Given the description of an element on the screen output the (x, y) to click on. 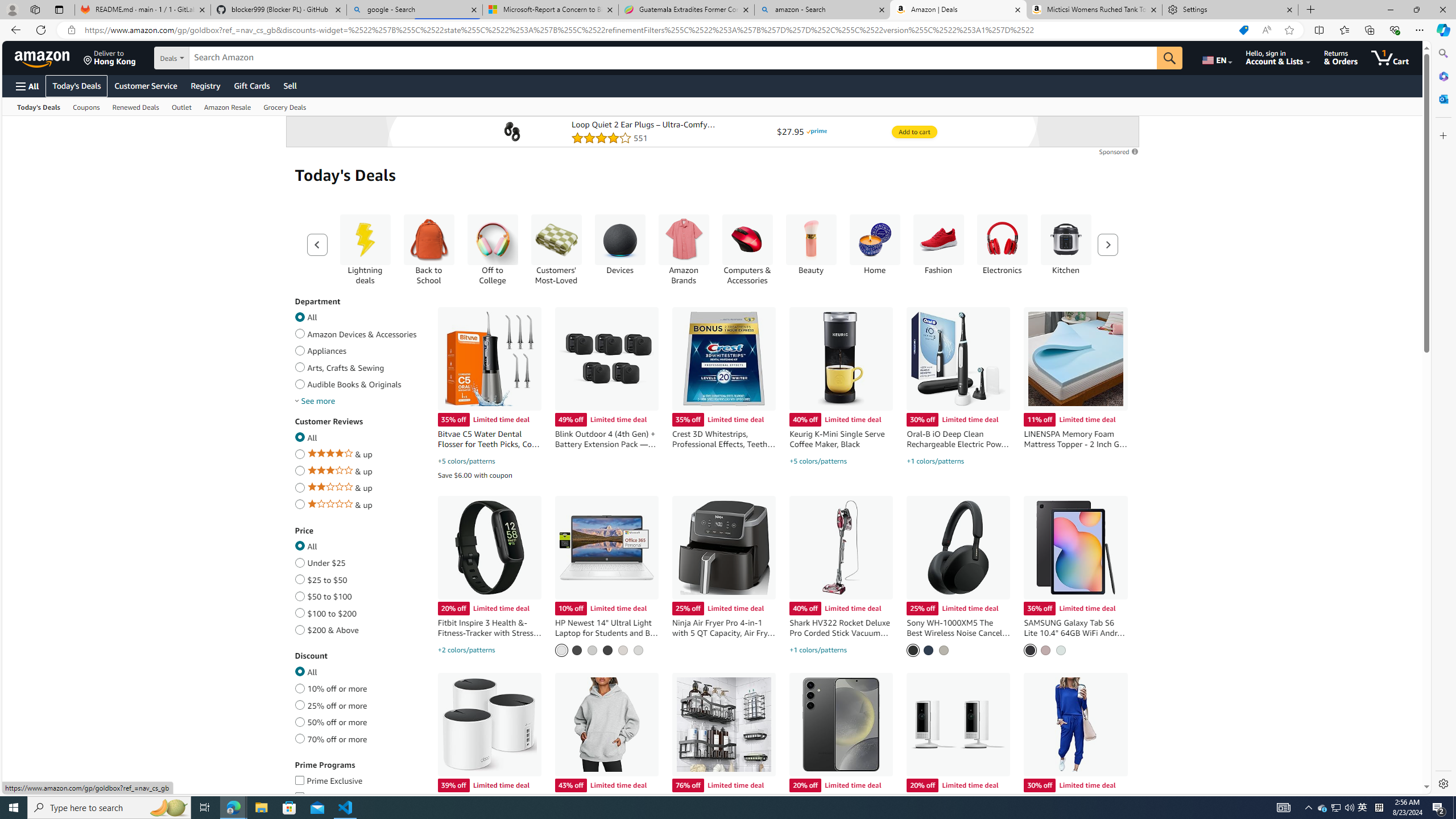
Product image (511, 131)
Midnight Blue (928, 649)
Chiffon Pink (1045, 649)
Renewed Deals (135, 106)
Mint (1061, 649)
Open Menu (26, 86)
